Given the description of an element on the screen output the (x, y) to click on. 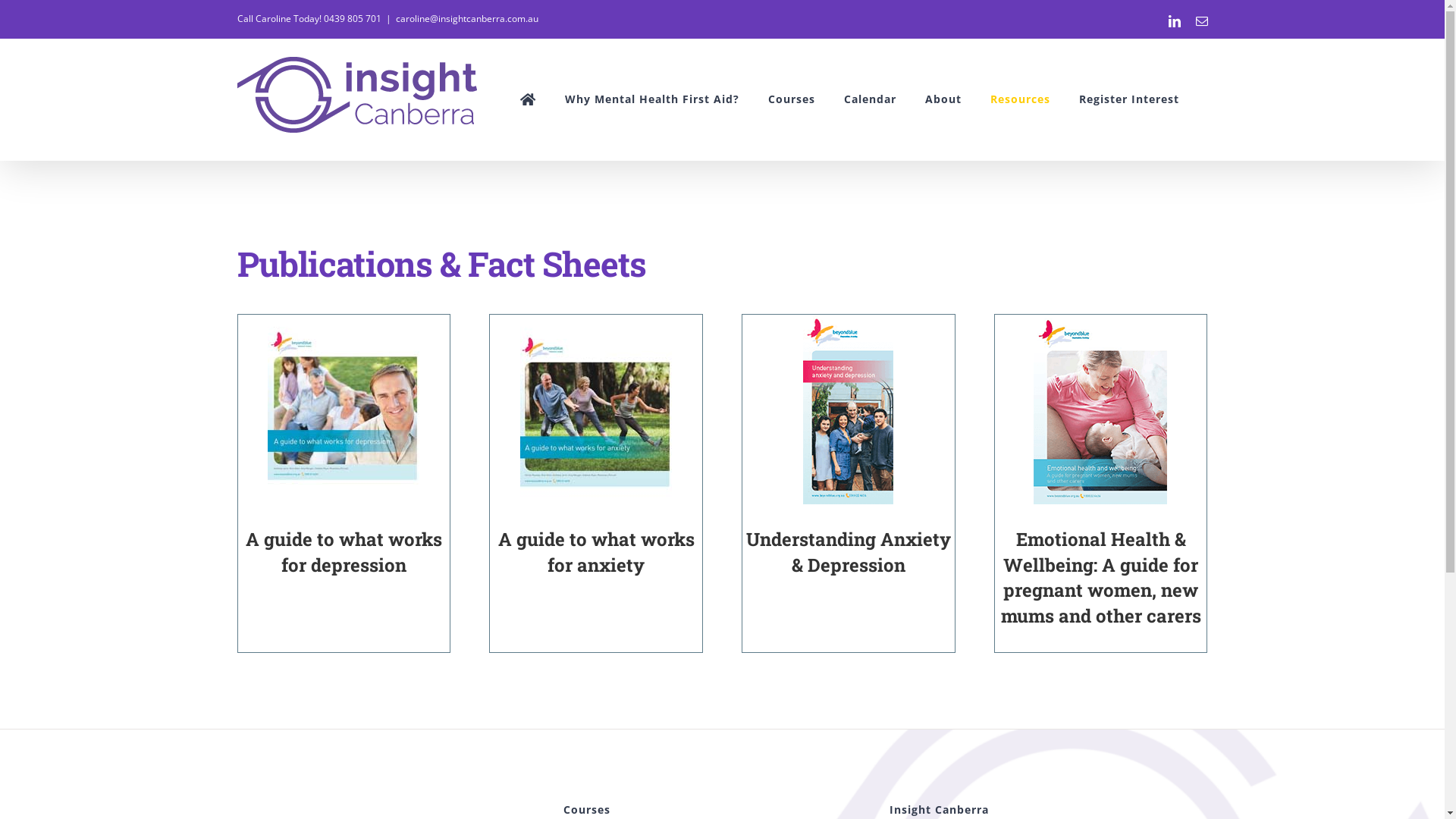
caroline@insightcanberra.com.au Element type: text (466, 18)
Register Interest Element type: text (1128, 99)
Calendar Element type: text (869, 99)
Resources Element type: text (1020, 99)
Why Mental Health First Aid? Element type: text (651, 99)
LinkedIn Element type: text (1173, 21)
A guide to what works for anxiety Element type: text (596, 552)
About Element type: text (943, 99)
Courses Element type: text (790, 99)
Email Element type: text (1201, 21)
A guide to what works for depression Element type: text (343, 552)
